Given the description of an element on the screen output the (x, y) to click on. 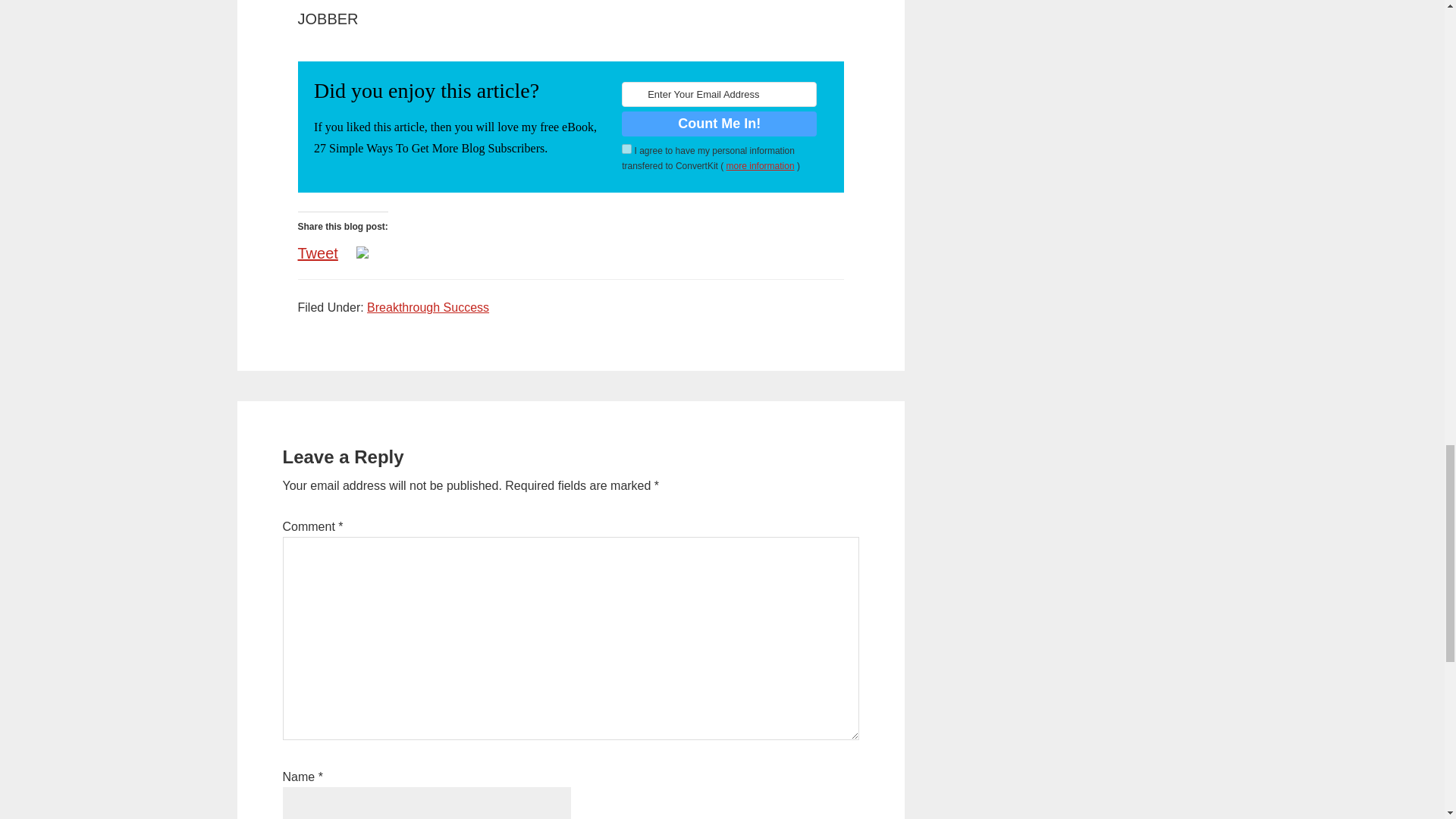
more information (760, 165)
Count Me In! (718, 123)
Breakthrough Success (427, 307)
Count Me In! (718, 123)
on (626, 148)
Tweet (317, 247)
